Given the description of an element on the screen output the (x, y) to click on. 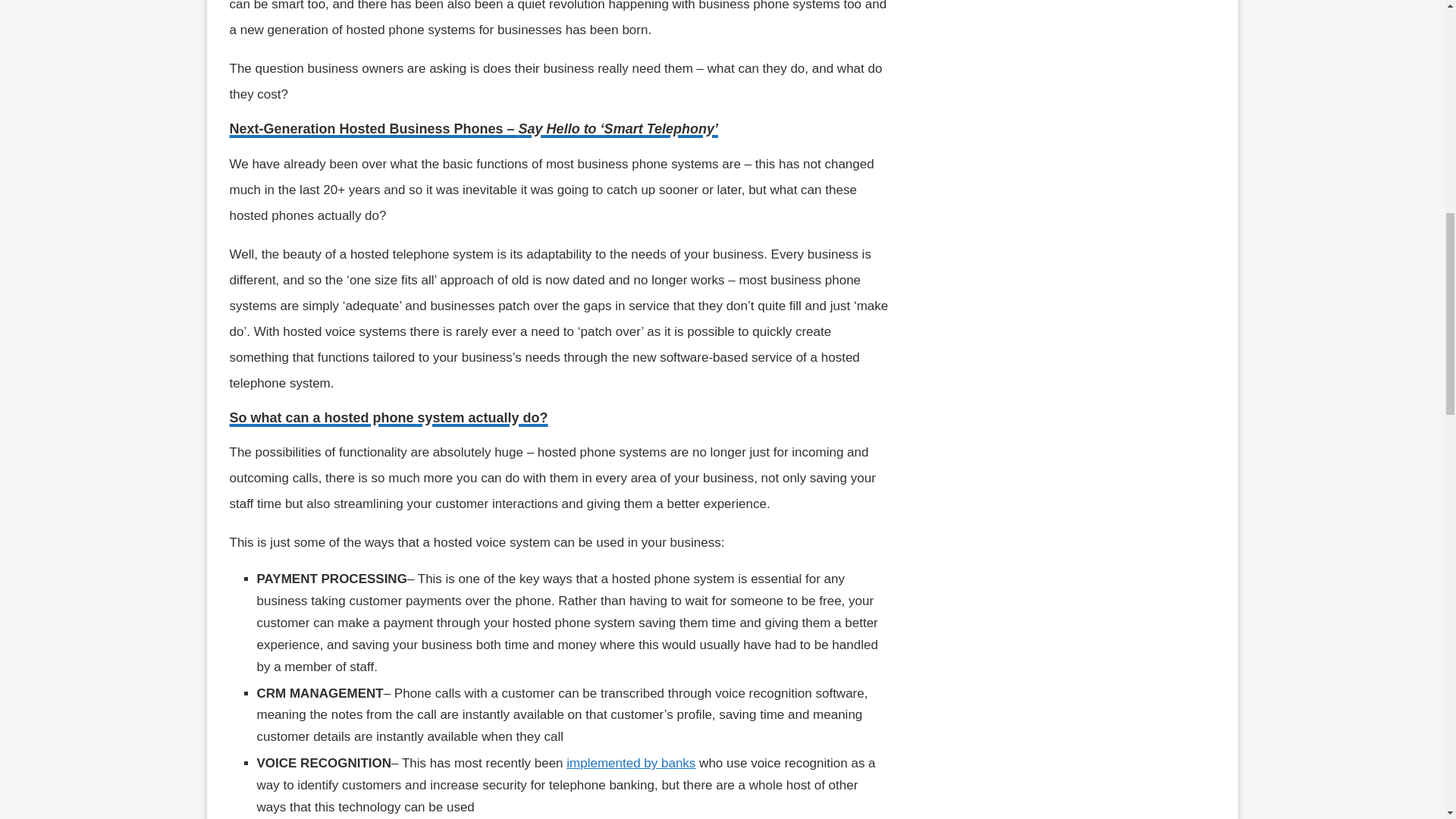
implemented by banks (630, 762)
